Given the description of an element on the screen output the (x, y) to click on. 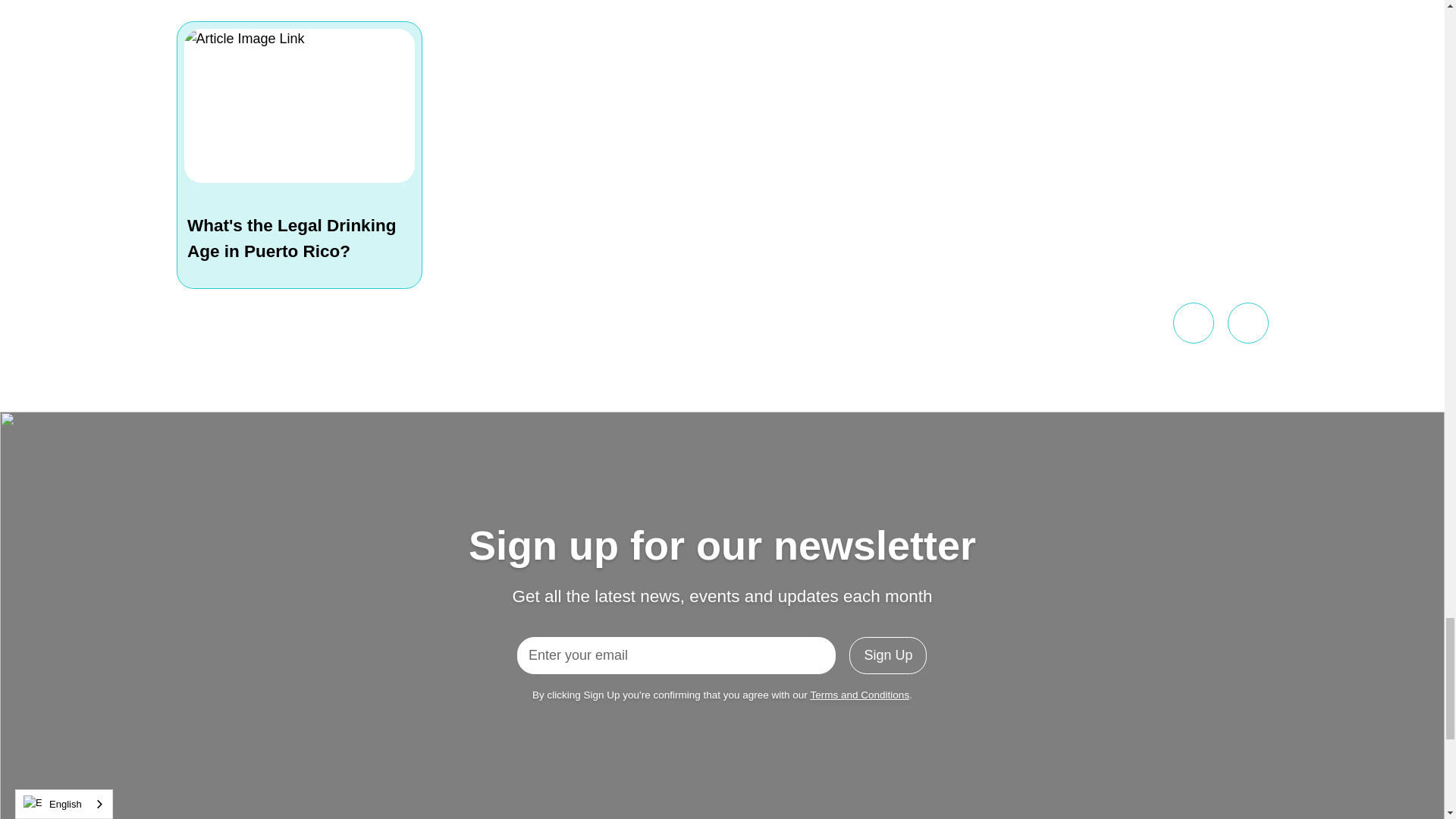
Sign Up (887, 655)
